Given the description of an element on the screen output the (x, y) to click on. 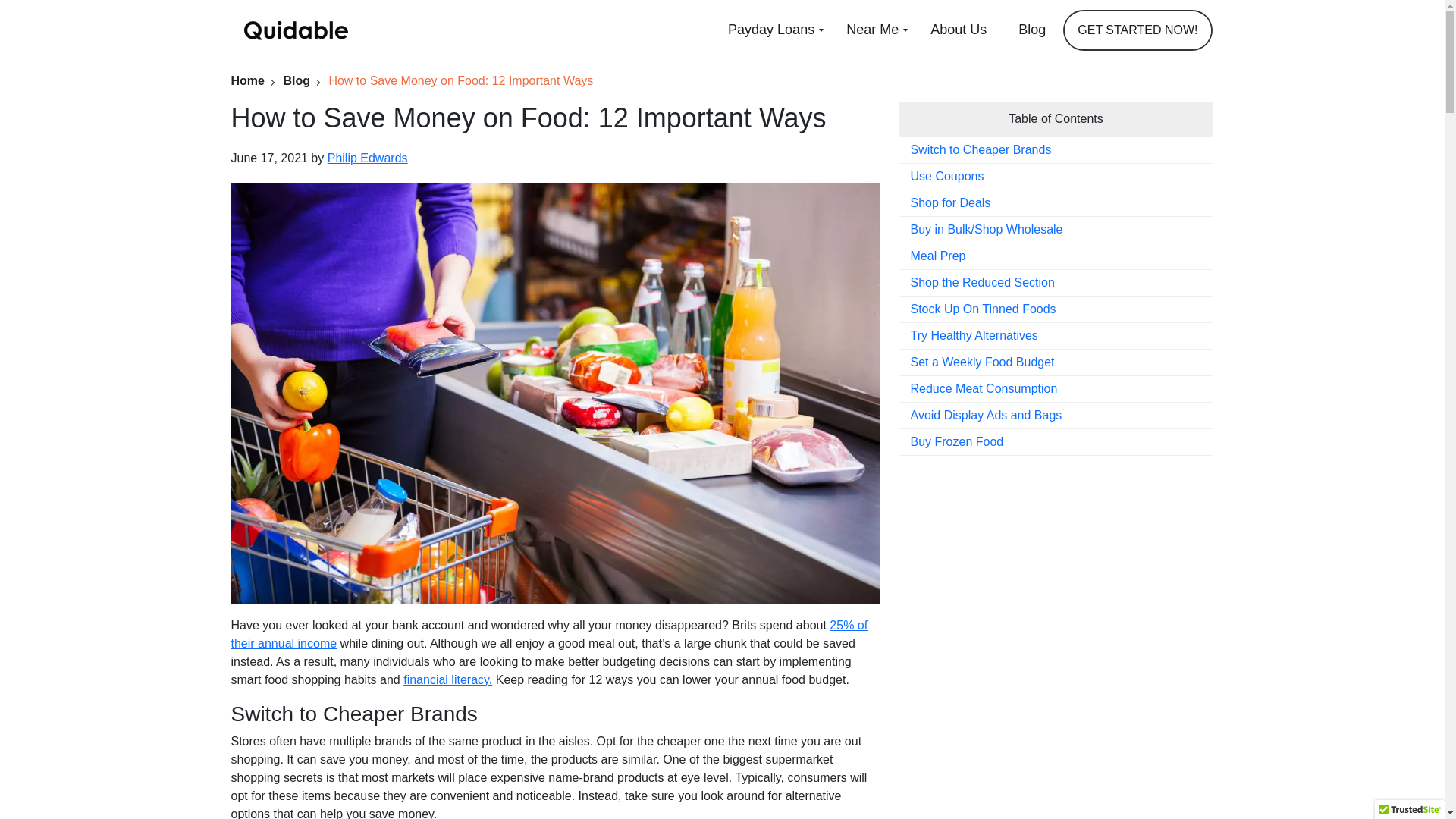
About Us (957, 30)
GET STARTED NOW! (1136, 30)
Home (246, 84)
Blog (296, 80)
Quidable (294, 30)
Blog (1032, 30)
Philip Edwards (367, 157)
